Given the description of an element on the screen output the (x, y) to click on. 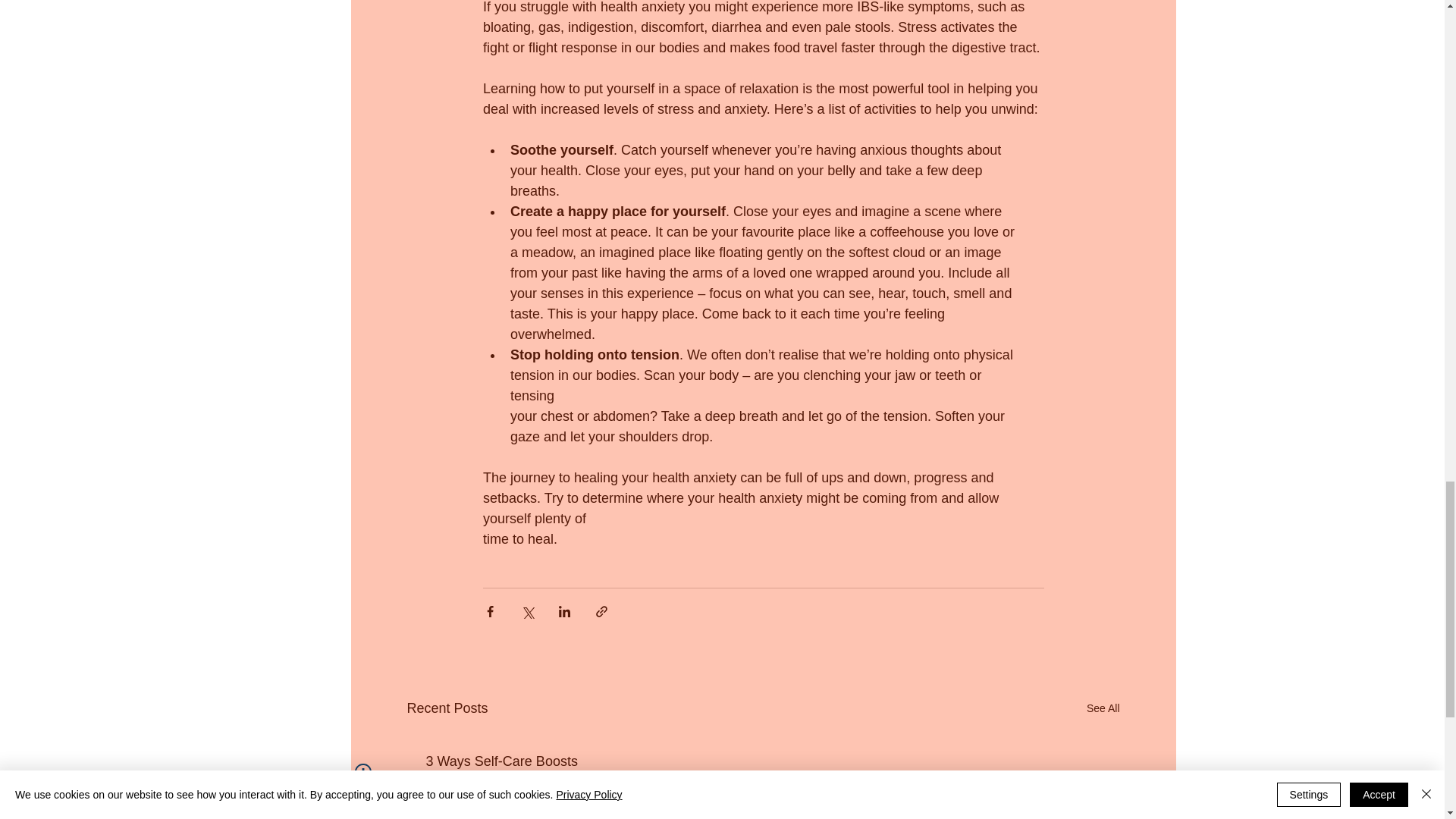
See All (1102, 708)
